Given the description of an element on the screen output the (x, y) to click on. 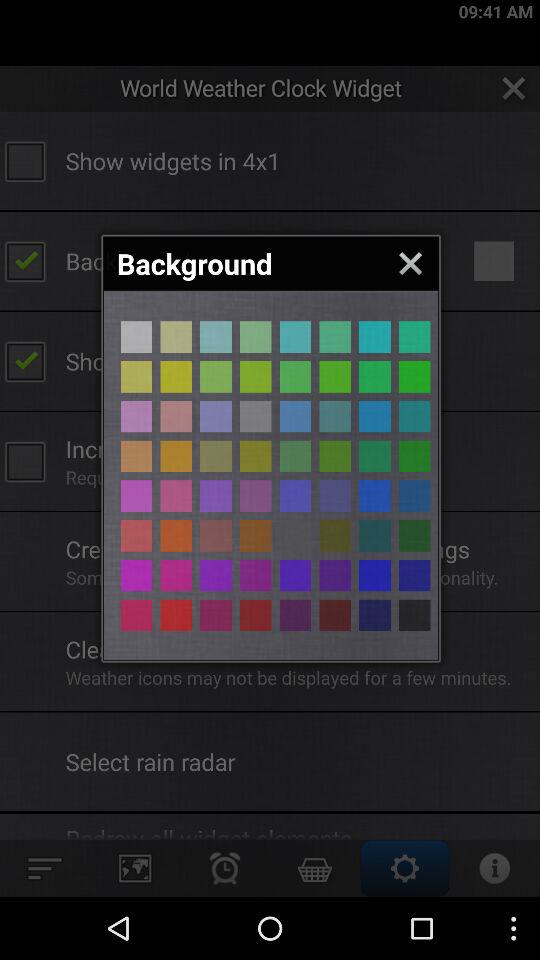
select a black background (374, 495)
